Given the description of an element on the screen output the (x, y) to click on. 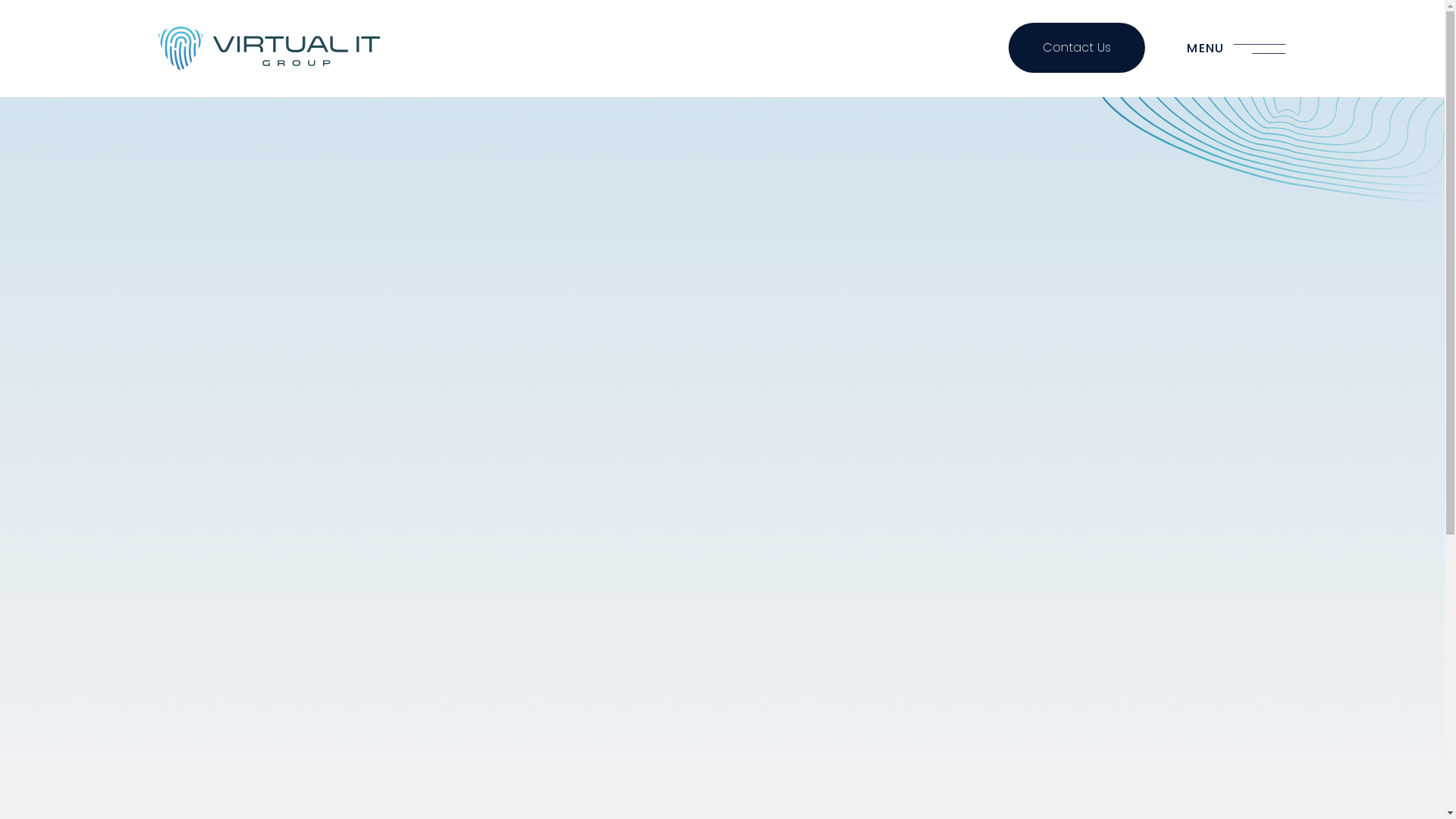
Contact Us Element type: text (1076, 47)
MENU Element type: text (1218, 48)
